Given the description of an element on the screen output the (x, y) to click on. 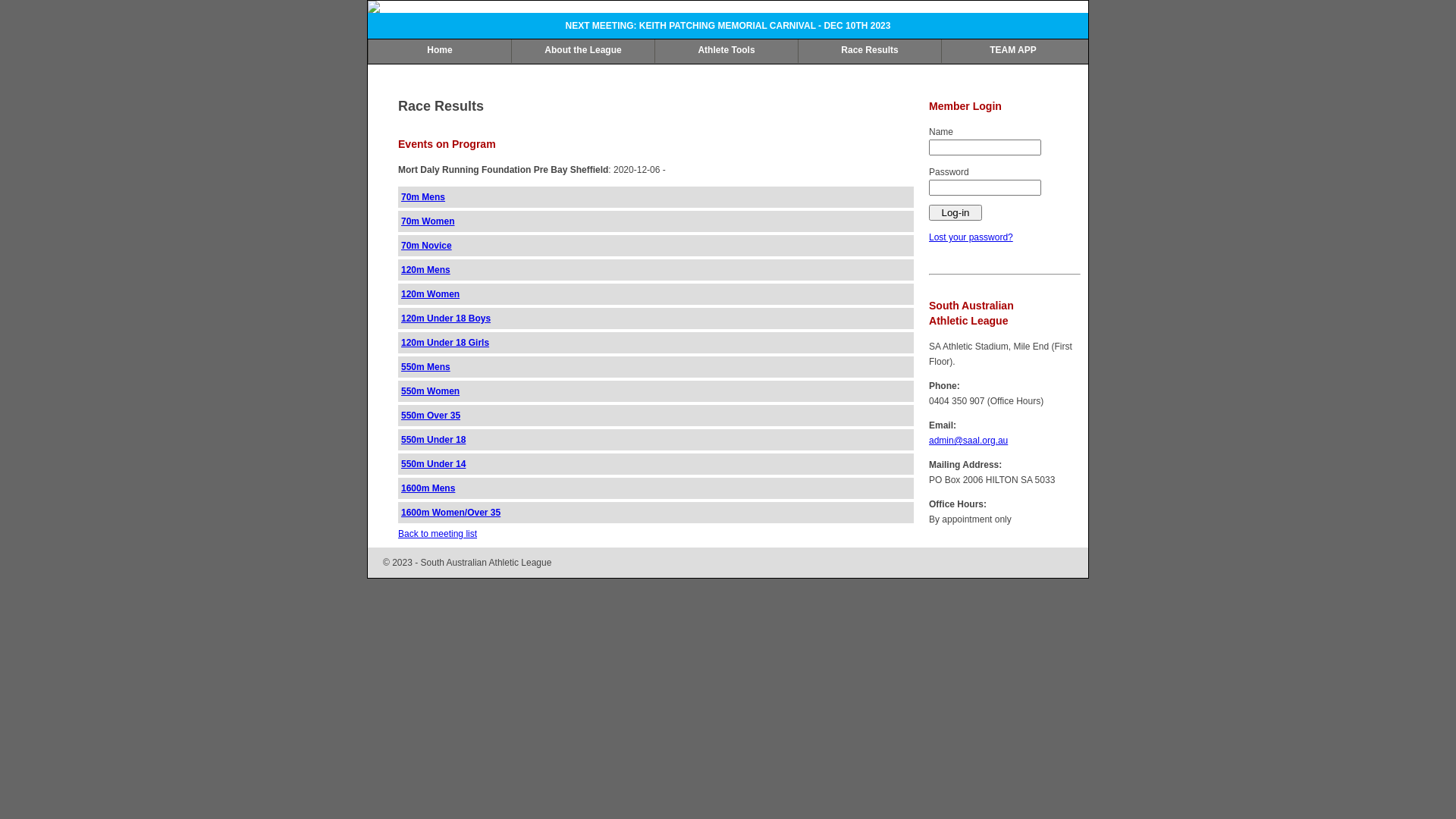
70m Novice Element type: text (426, 245)
550m Women Element type: text (430, 390)
admin@saal.org.au Element type: text (967, 440)
Athlete Tools Element type: text (725, 50)
Log-in Element type: text (955, 212)
1600m Mens Element type: text (428, 488)
120m Mens Element type: text (425, 269)
550m Under 14 Element type: text (433, 463)
550m Under 18 Element type: text (433, 439)
Back to meeting list Element type: text (437, 533)
120m Women Element type: text (430, 293)
Race Results Element type: text (869, 50)
70m Women Element type: text (427, 221)
550m Mens Element type: text (425, 366)
550m Over 35 Element type: text (430, 415)
70m Mens Element type: text (423, 196)
Lost your password? Element type: text (970, 237)
120m Under 18 Girls Element type: text (445, 342)
Home Element type: text (439, 50)
120m Under 18 Boys Element type: text (445, 318)
1600m Women/Over 35 Element type: text (450, 512)
TEAM APP Element type: text (1012, 50)
About the League Element type: text (582, 50)
